Given the description of an element on the screen output the (x, y) to click on. 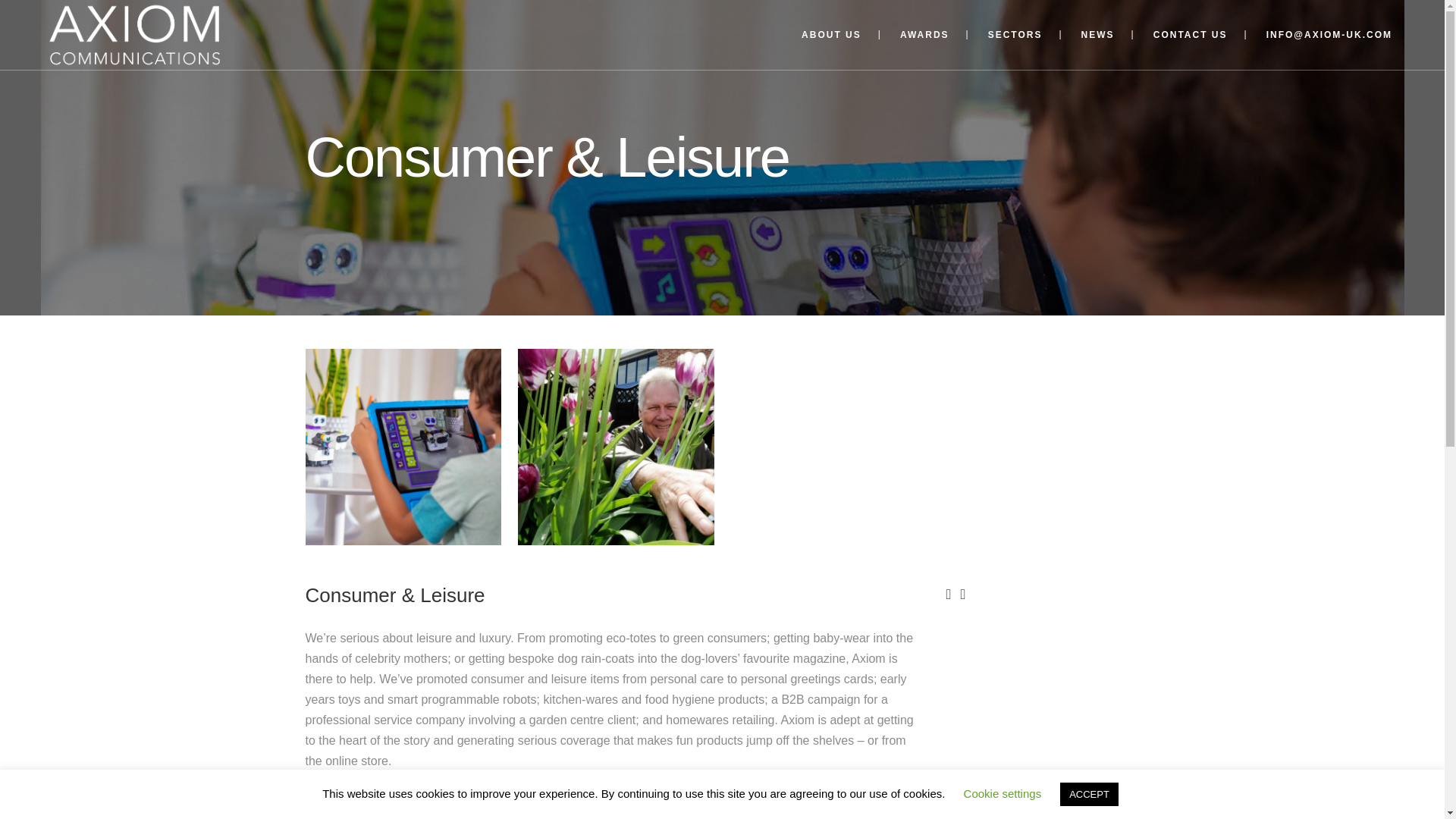
SECTORS (1015, 34)
CONTACT US (1190, 34)
NEWS (1097, 34)
ABOUT US (831, 34)
ACCEPT (1088, 793)
AWARDS (925, 34)
Cookie settings (1002, 793)
